Given the description of an element on the screen output the (x, y) to click on. 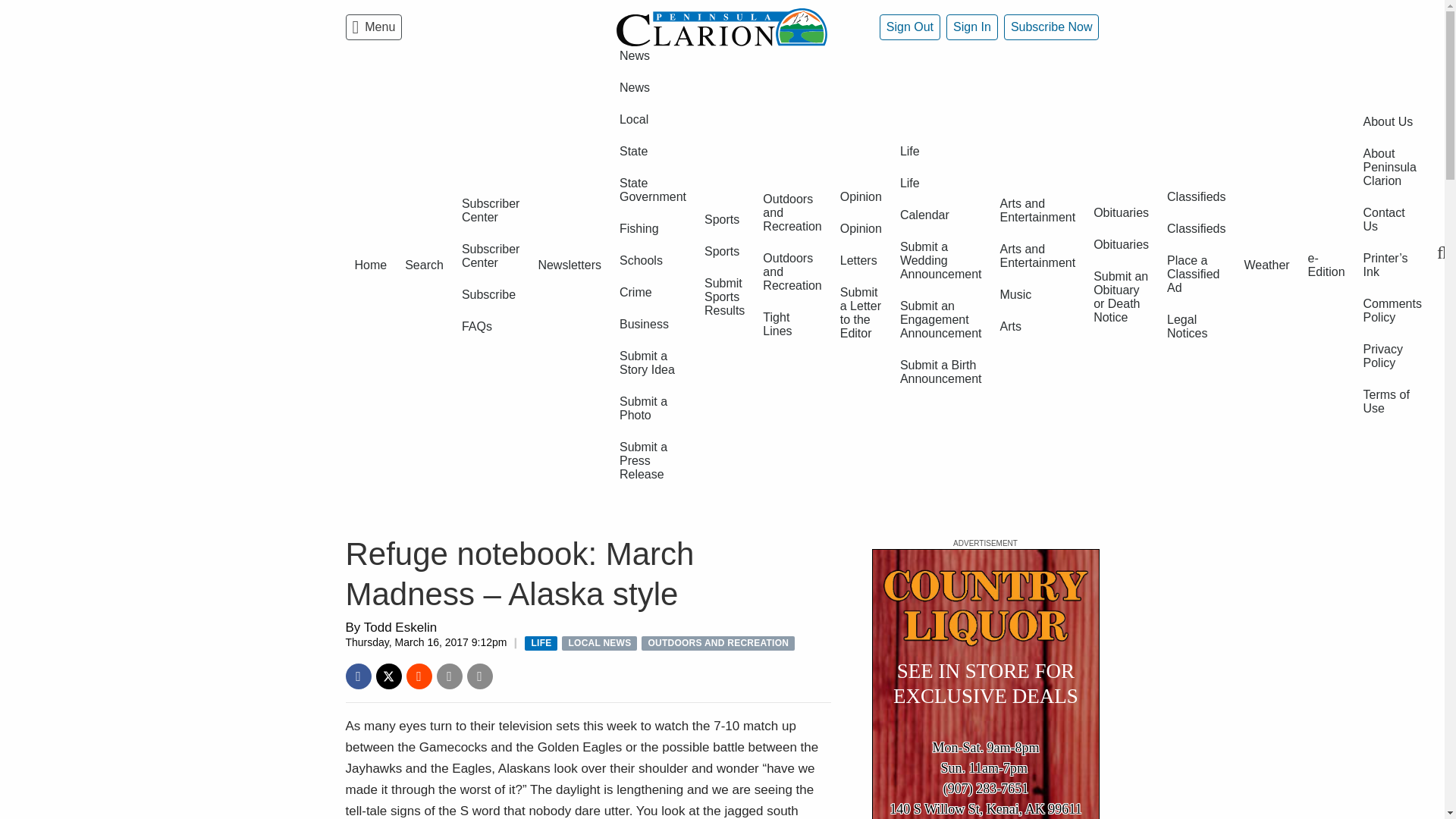
Post to Reddit (419, 676)
3rd party ad content (985, 683)
Post to Twitter (388, 676)
Post to Facebook (358, 676)
Print story (480, 676)
Email story (449, 676)
